Given the description of an element on the screen output the (x, y) to click on. 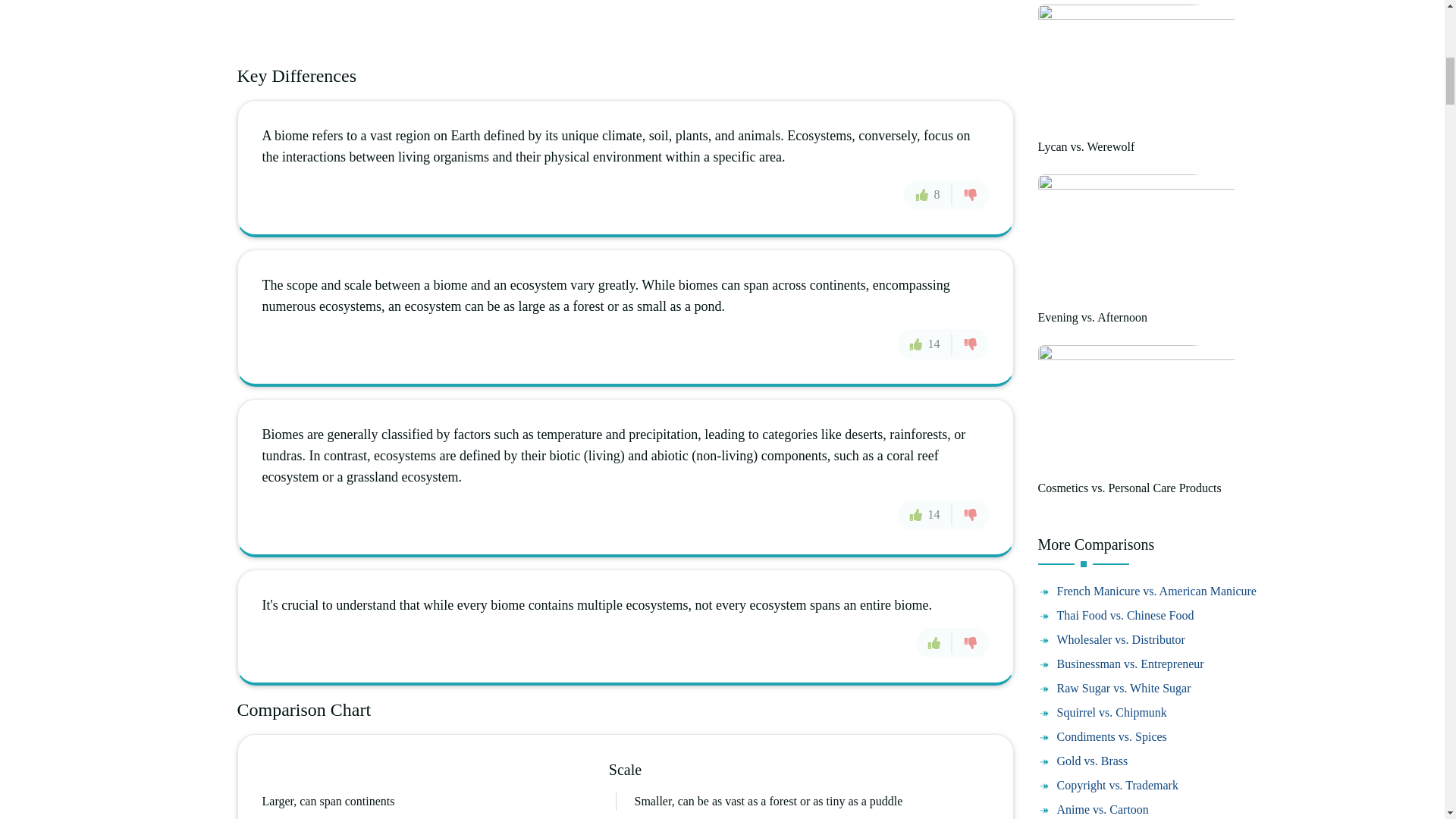
14 (925, 344)
14 (925, 514)
8 (928, 194)
